Given the description of an element on the screen output the (x, y) to click on. 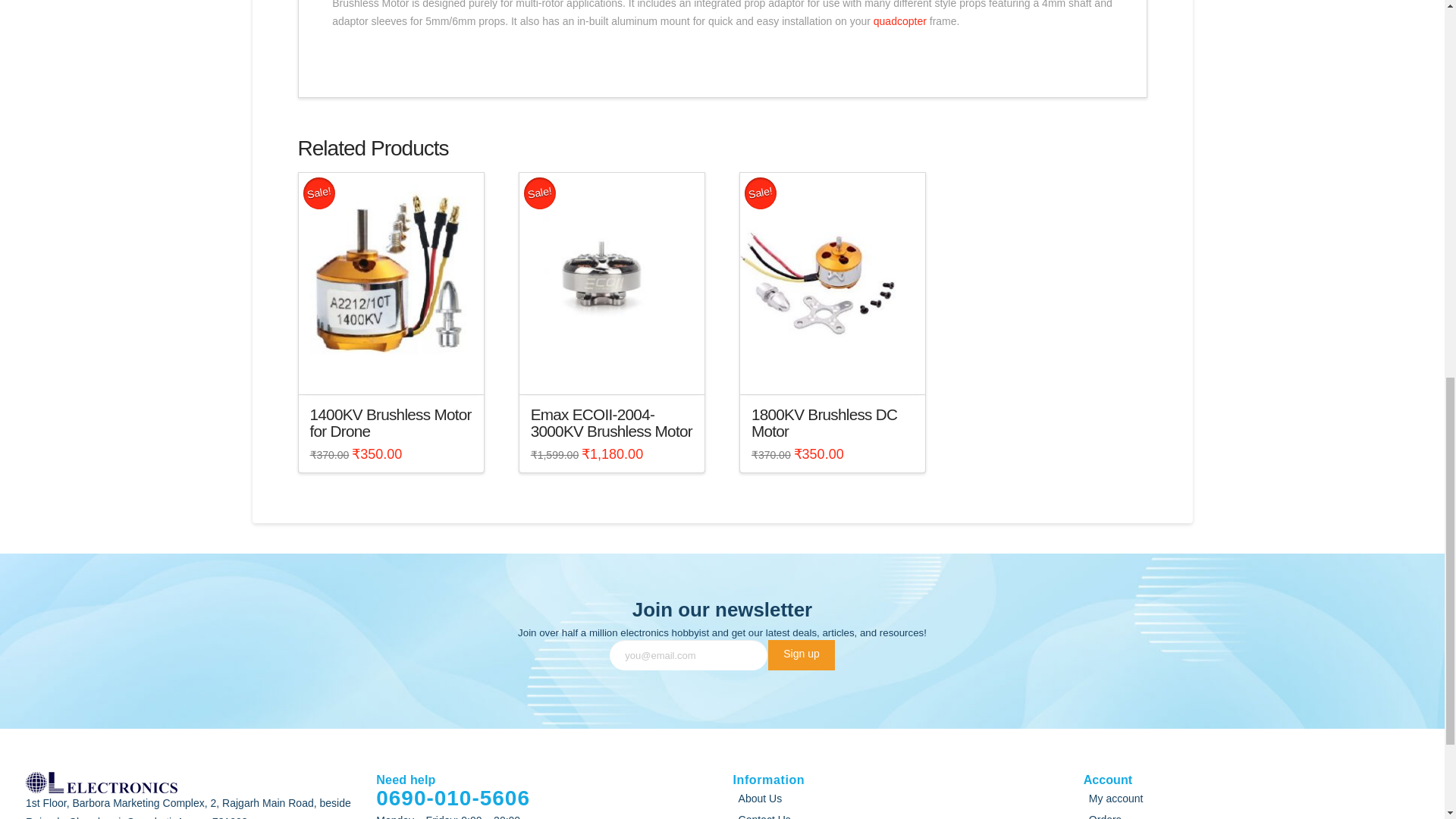
1800KV Brushless DC Motor (823, 422)
Emax ECOII-2004-3000KV Brushless Motor (612, 422)
Sign up (801, 654)
1400KV Brushless Motor for Drone (389, 422)
Sign up (801, 654)
quadcopter (899, 21)
